Given the description of an element on the screen output the (x, y) to click on. 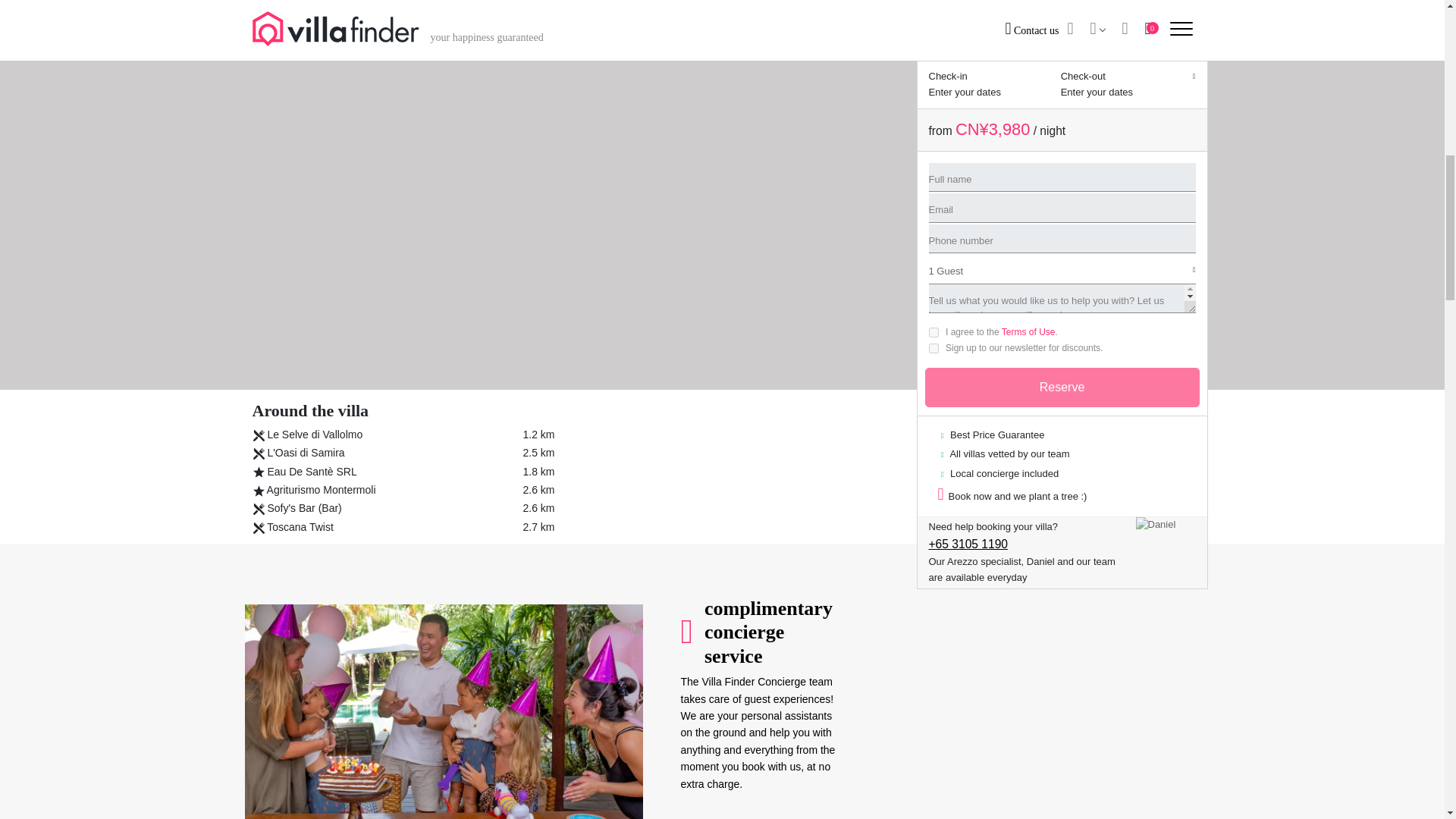
on (932, 5)
on (932, 21)
